Given the description of an element on the screen output the (x, y) to click on. 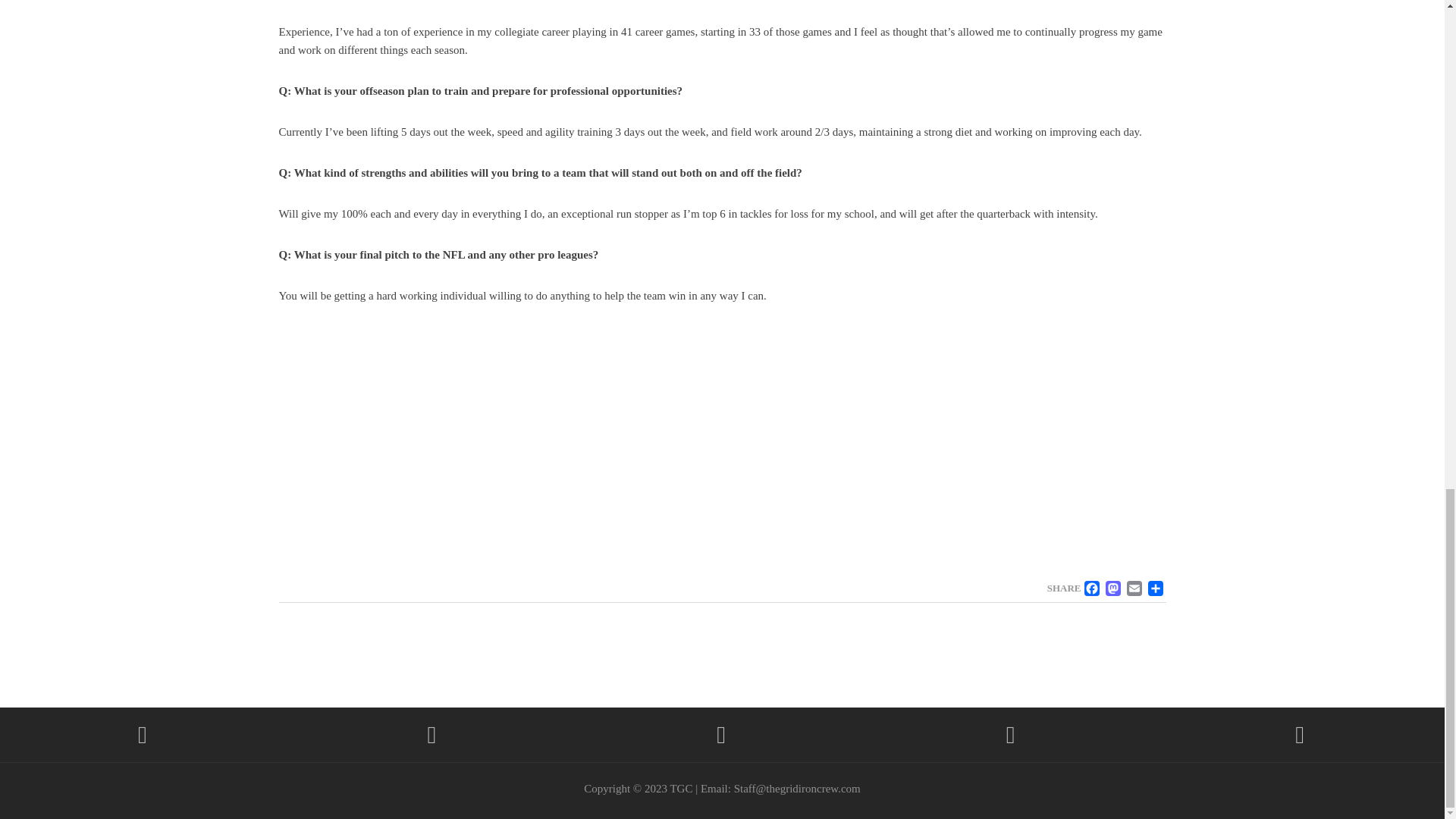
FACEBOOK (1091, 588)
Email (1134, 588)
Mastodon (1113, 588)
EMAIL (1134, 588)
MASTODON (1113, 588)
YouTube video player (491, 446)
Facebook (1091, 588)
